Given the description of an element on the screen output the (x, y) to click on. 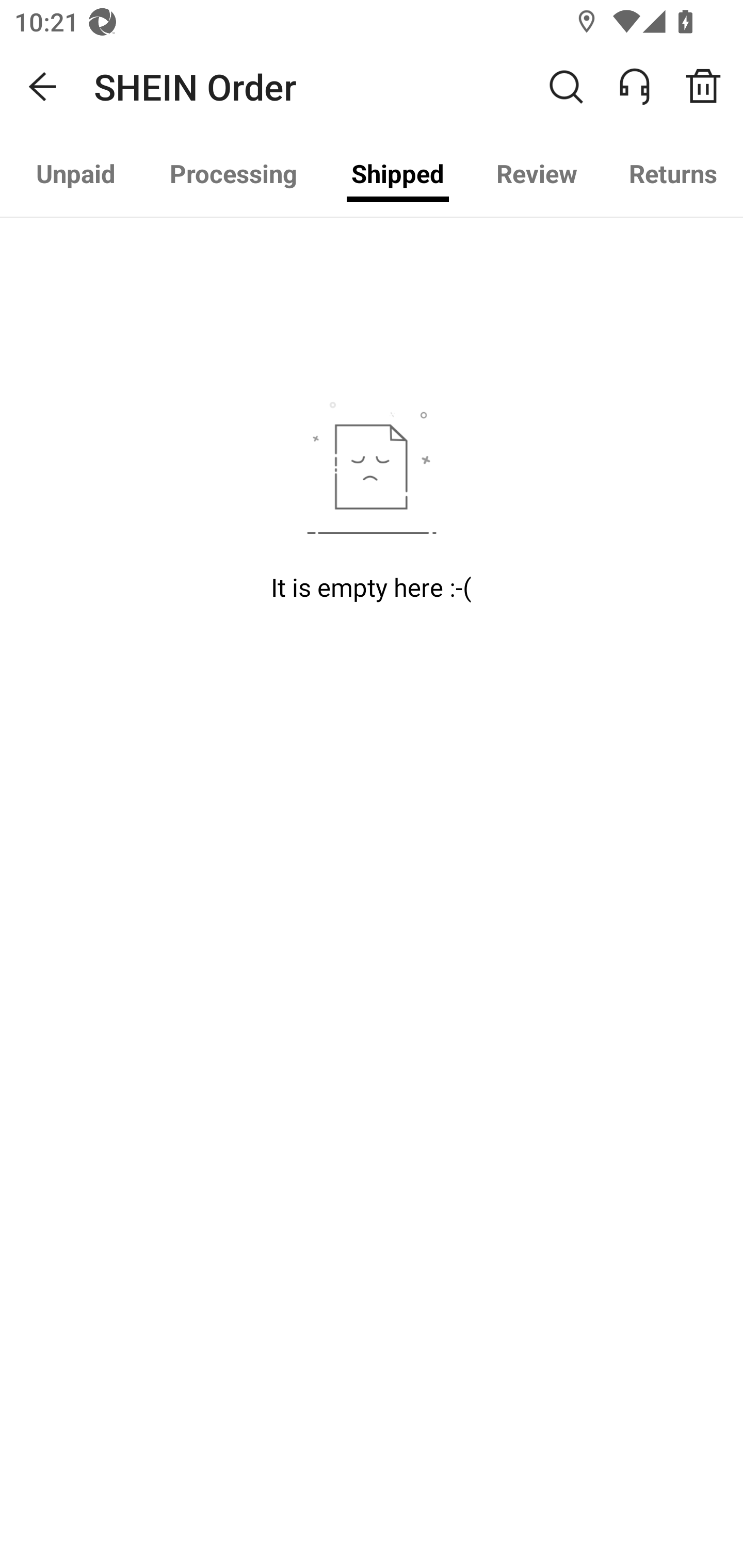
Navigate up (43, 86)
Search (565, 86)
ONLINE SERVICE (644, 86)
Order Recycle Bin (710, 86)
Unpaid (76, 173)
Processing (233, 173)
Shipped (397, 173)
Review (536, 173)
Returns (672, 173)
